Given the description of an element on the screen output the (x, y) to click on. 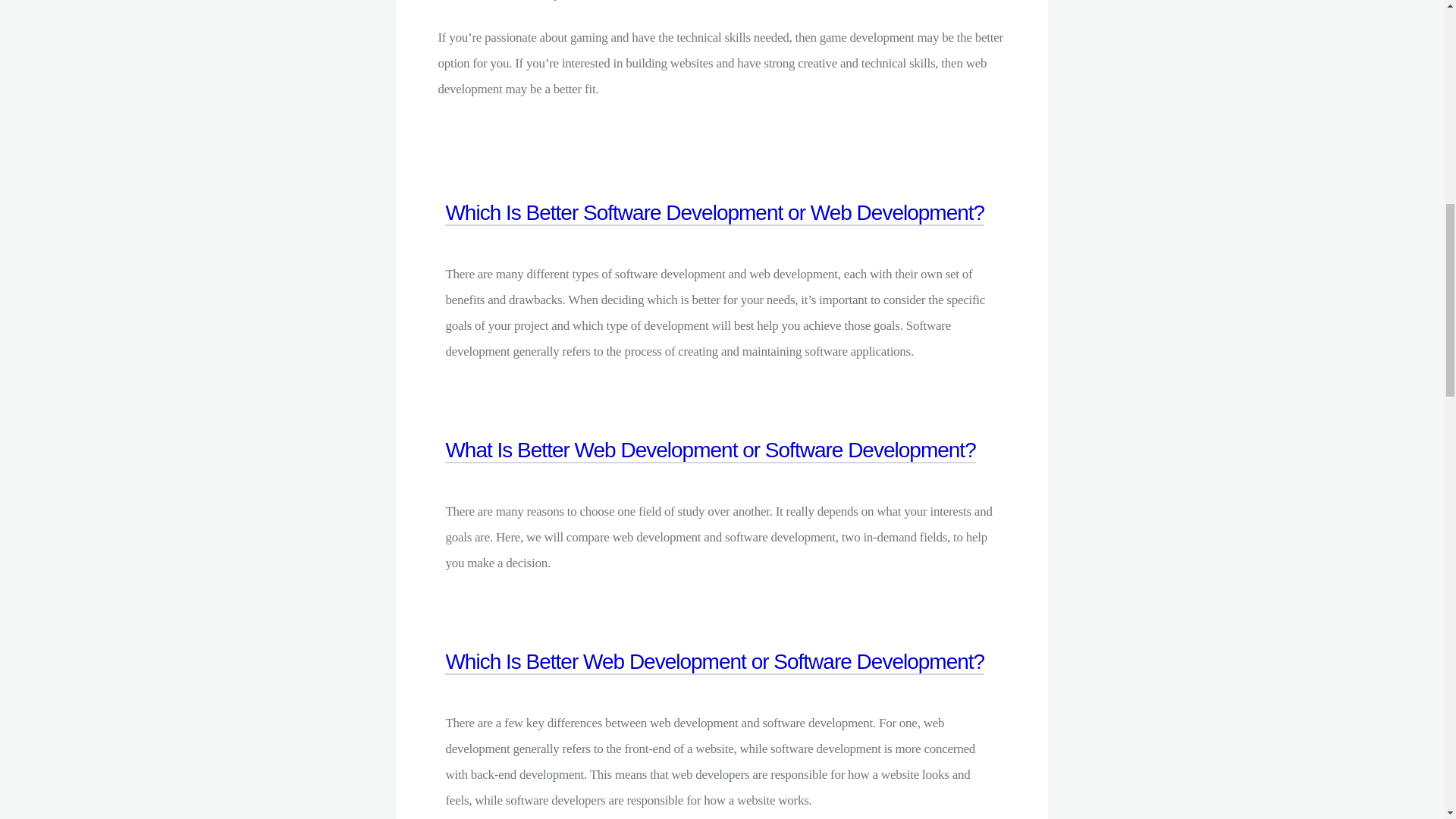
What Is Better Web Development or Software Development? (710, 467)
Which Is Better Web Development or Software Development? (714, 679)
Which Is Better Software Development or Web Development? (714, 229)
